Given the description of an element on the screen output the (x, y) to click on. 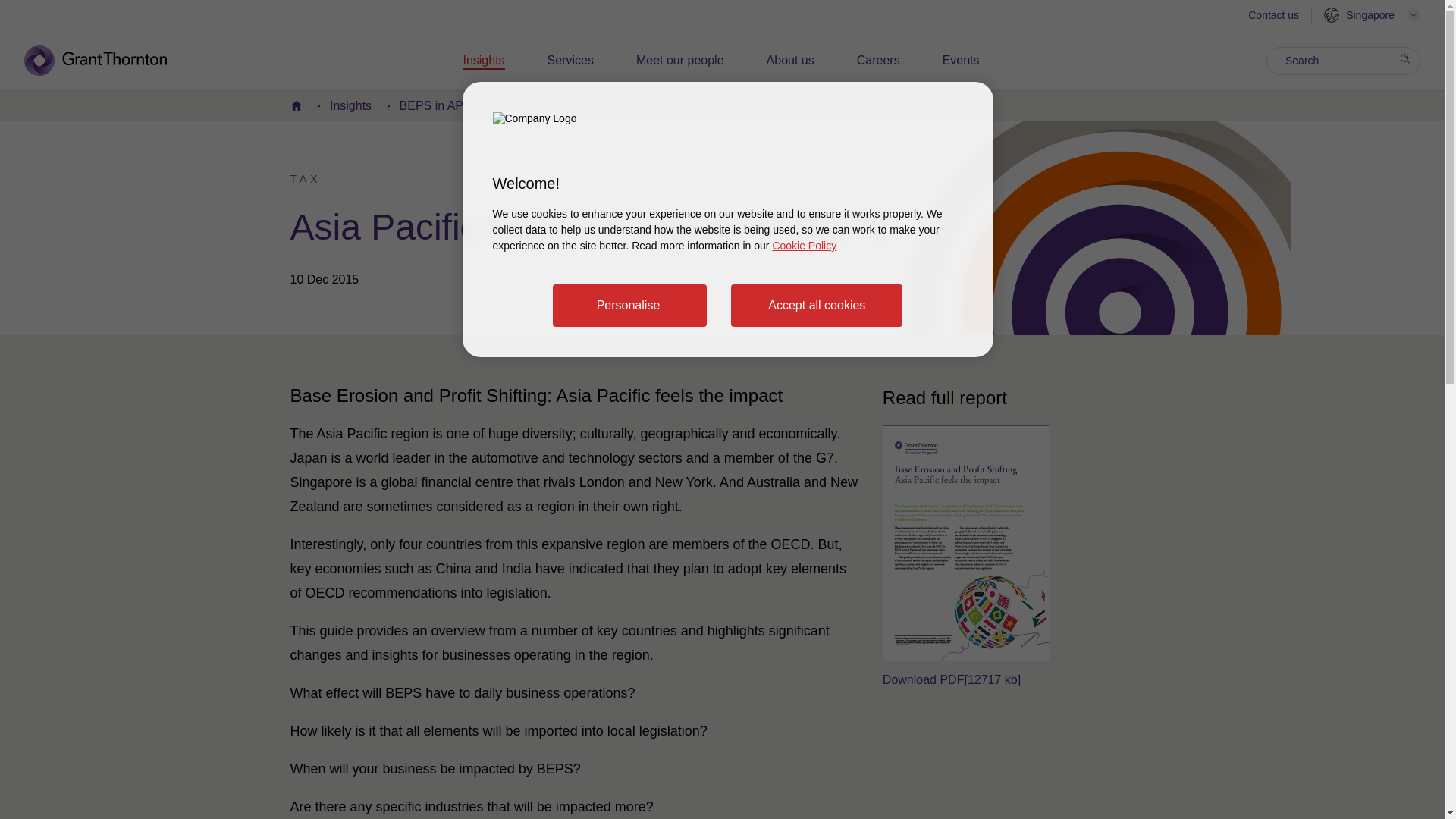
Meet our people (679, 60)
Contact us (1272, 17)
Events (960, 60)
Singapore (1372, 14)
Insights (483, 60)
Careers (878, 60)
logo (105, 60)
Services (570, 60)
Explore the Grant Thornton network (1372, 14)
open a new window - Contact us (1272, 17)
